Given the description of an element on the screen output the (x, y) to click on. 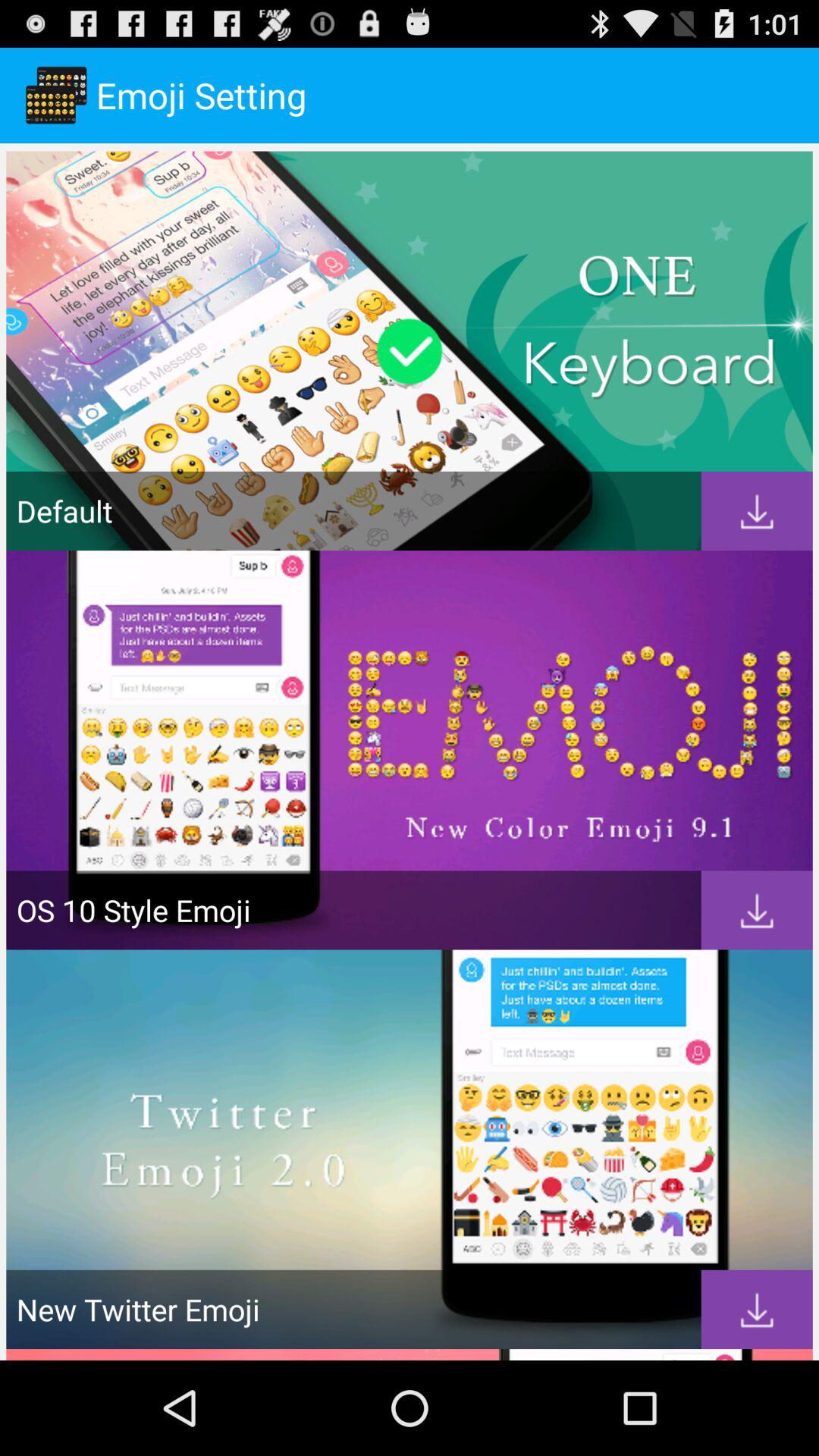
click to move to next emoji app (756, 511)
